Given the description of an element on the screen output the (x, y) to click on. 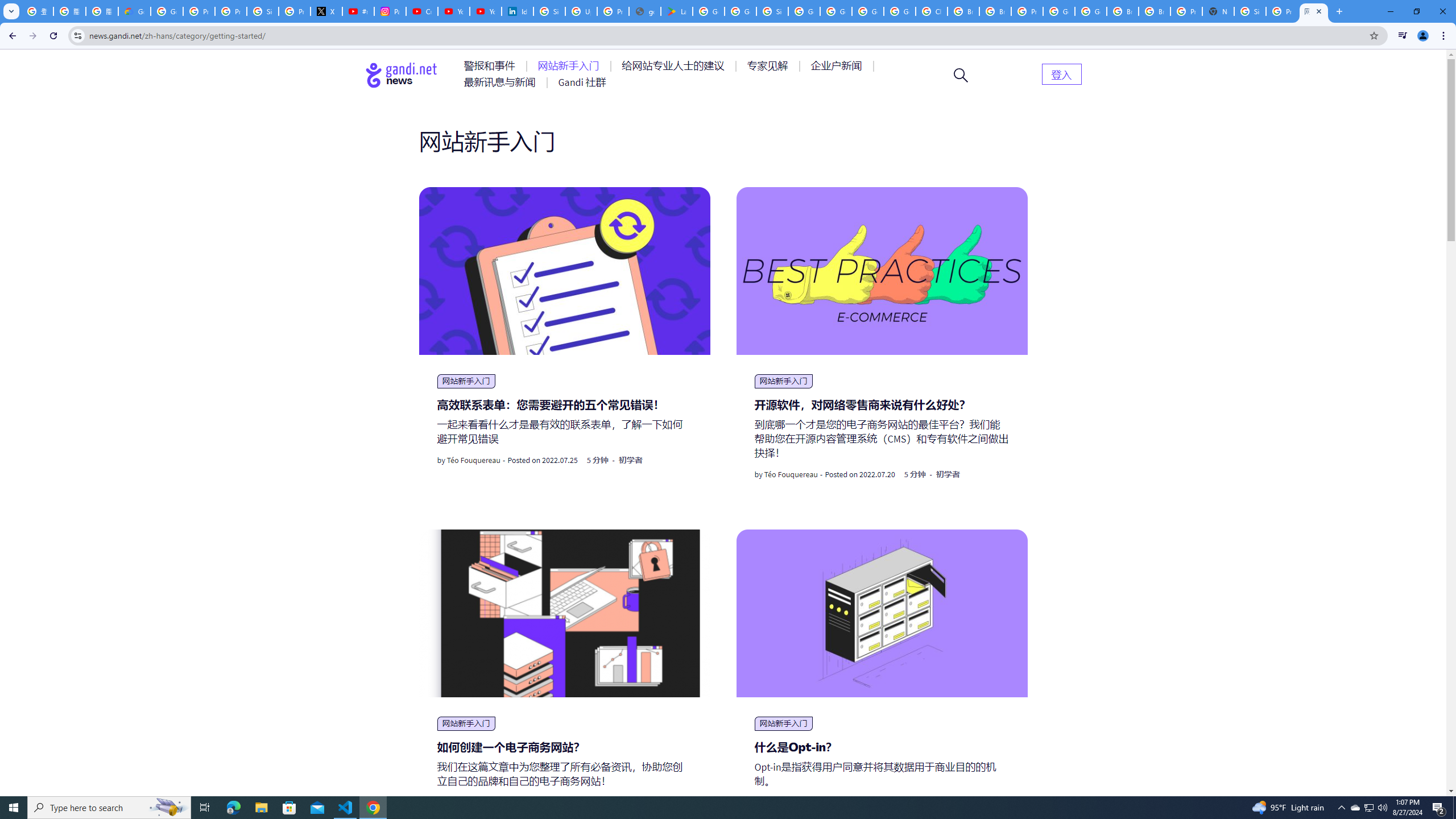
Go to home (401, 75)
AutomationID: menu-item-77763 (674, 65)
#nbabasketballhighlights - YouTube (358, 11)
X (326, 11)
